Given the description of an element on the screen output the (x, y) to click on. 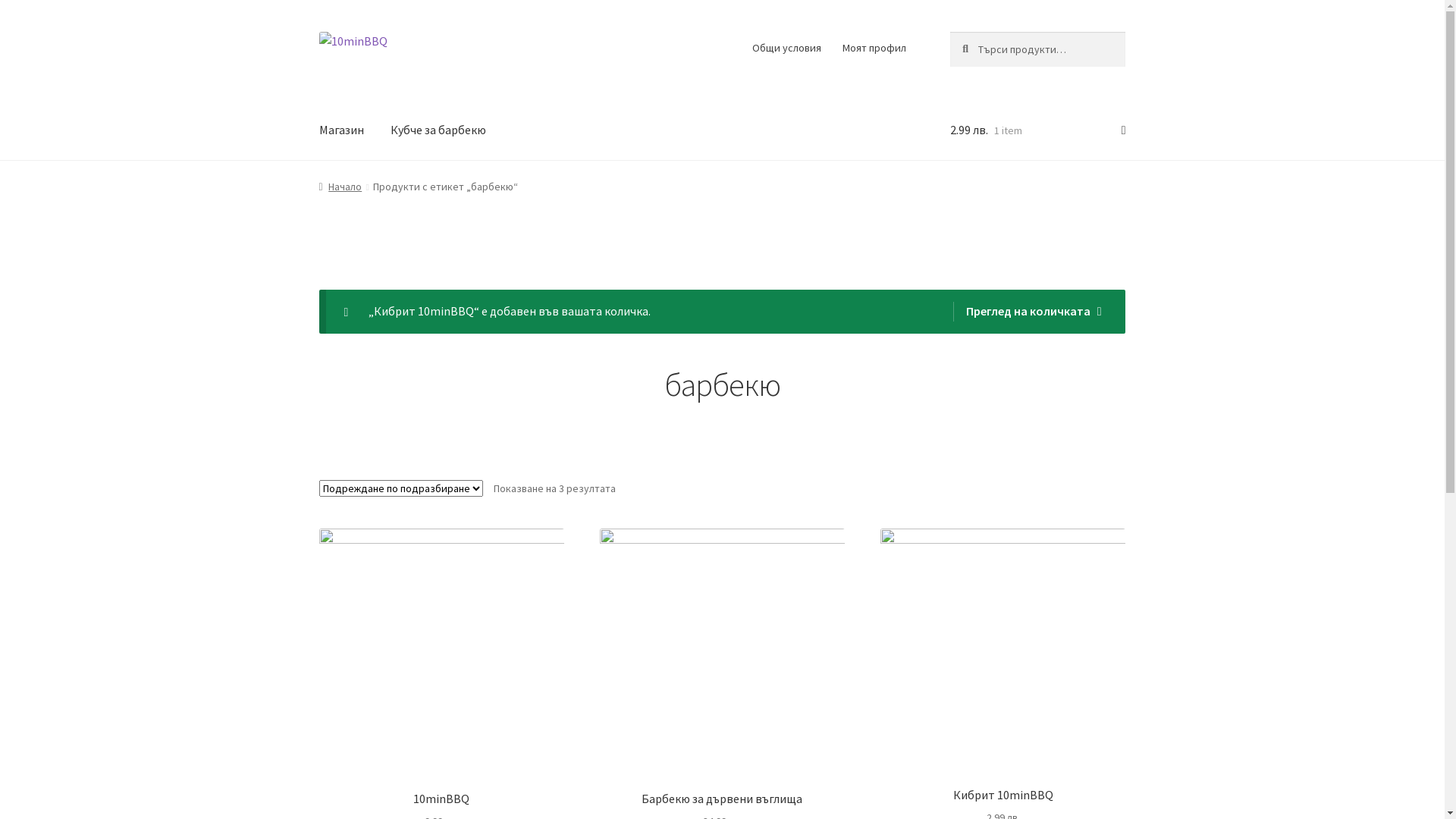
Skip to navigation Element type: text (318, 31)
